Given the description of an element on the screen output the (x, y) to click on. 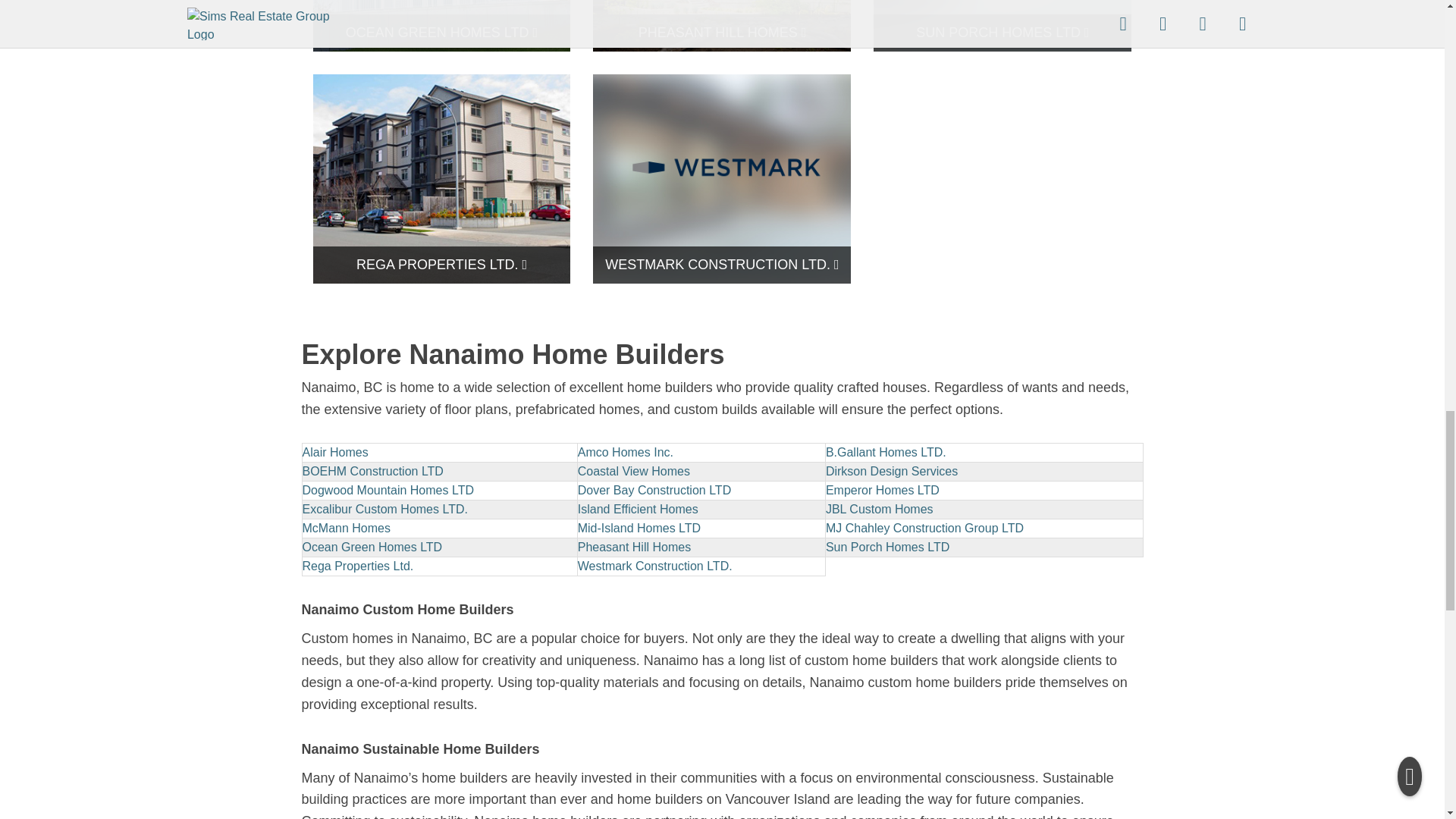
Alair Homes (334, 451)
